Given the description of an element on the screen output the (x, y) to click on. 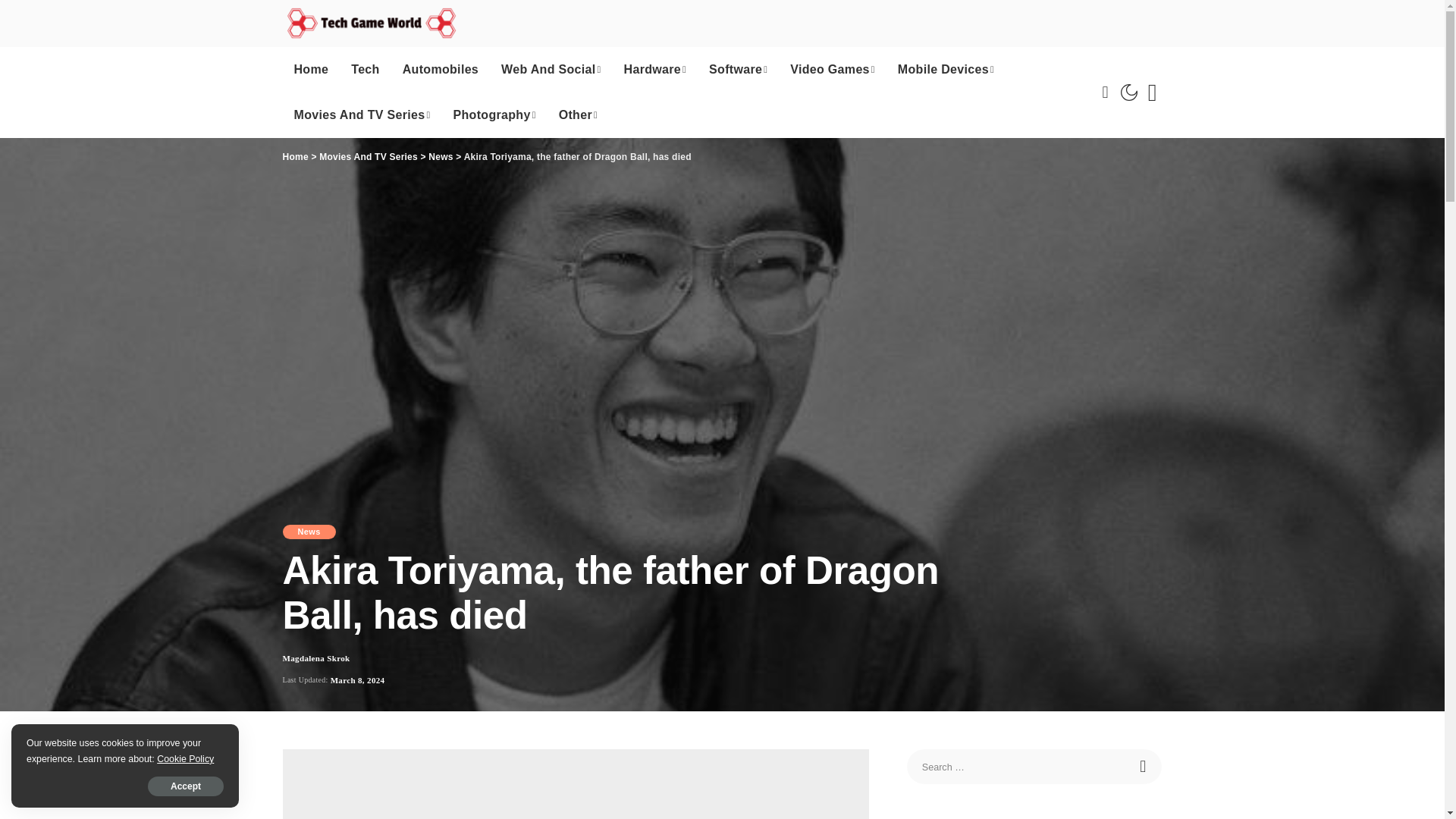
Search (1143, 766)
Search (1143, 766)
